Given the description of an element on the screen output the (x, y) to click on. 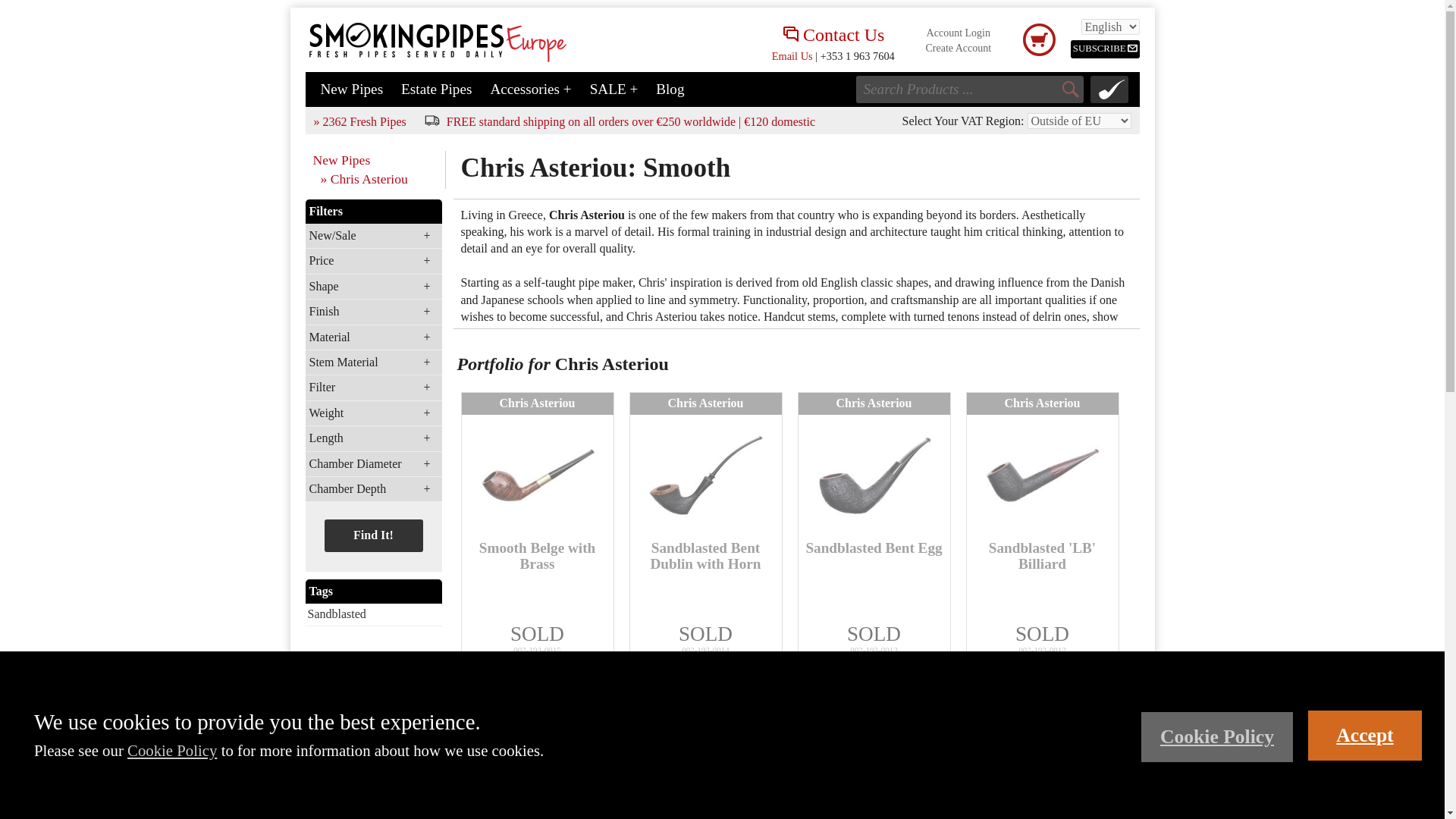
Create Account (957, 48)
New Pipes (378, 159)
Estate Pipes (442, 89)
Blog (676, 89)
Account Login (958, 32)
Contact Us (832, 36)
Email Us (791, 55)
New Pipes (356, 89)
